Given the description of an element on the screen output the (x, y) to click on. 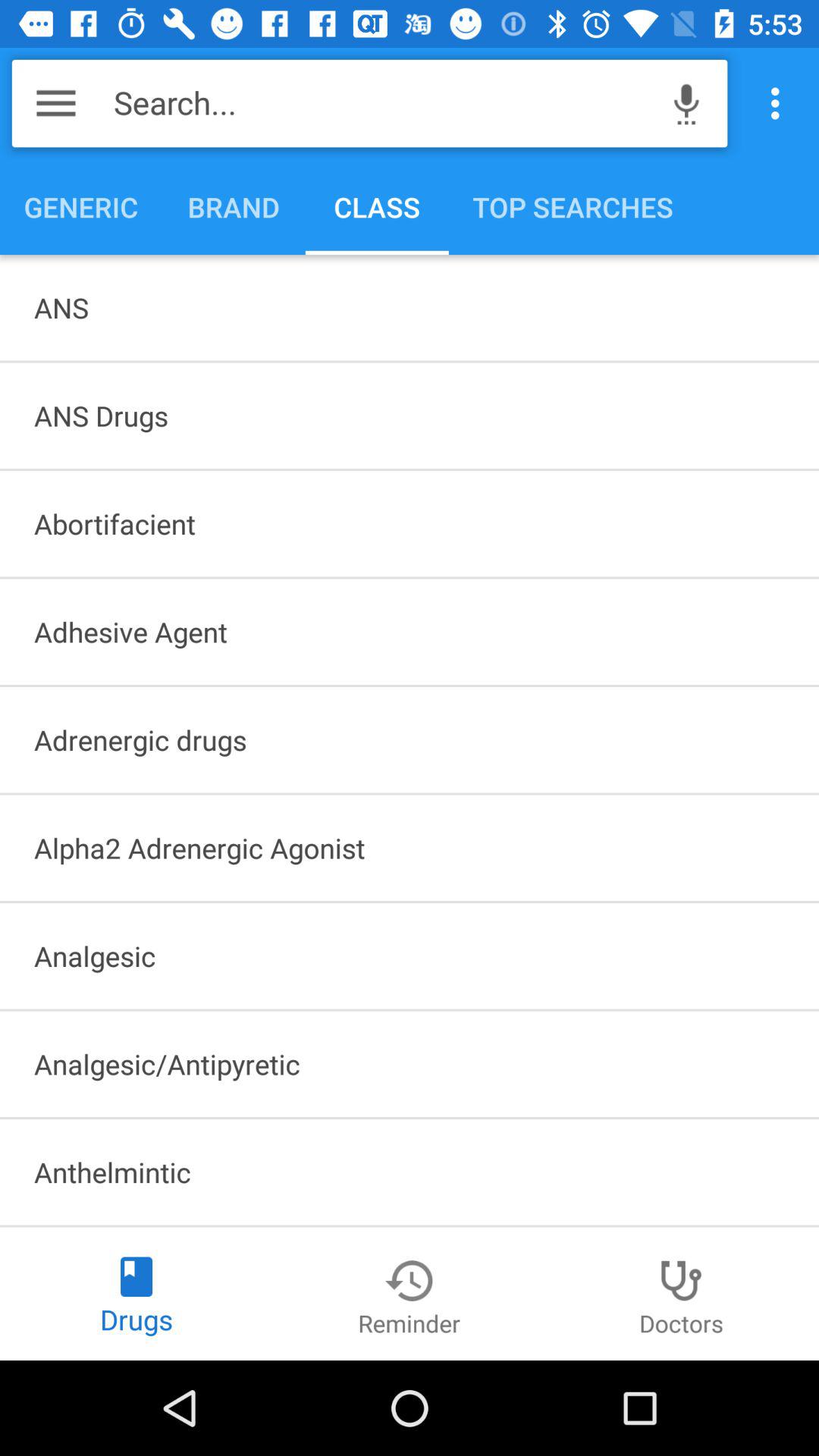
swipe until the anthelmintic item (409, 1171)
